Given the description of an element on the screen output the (x, y) to click on. 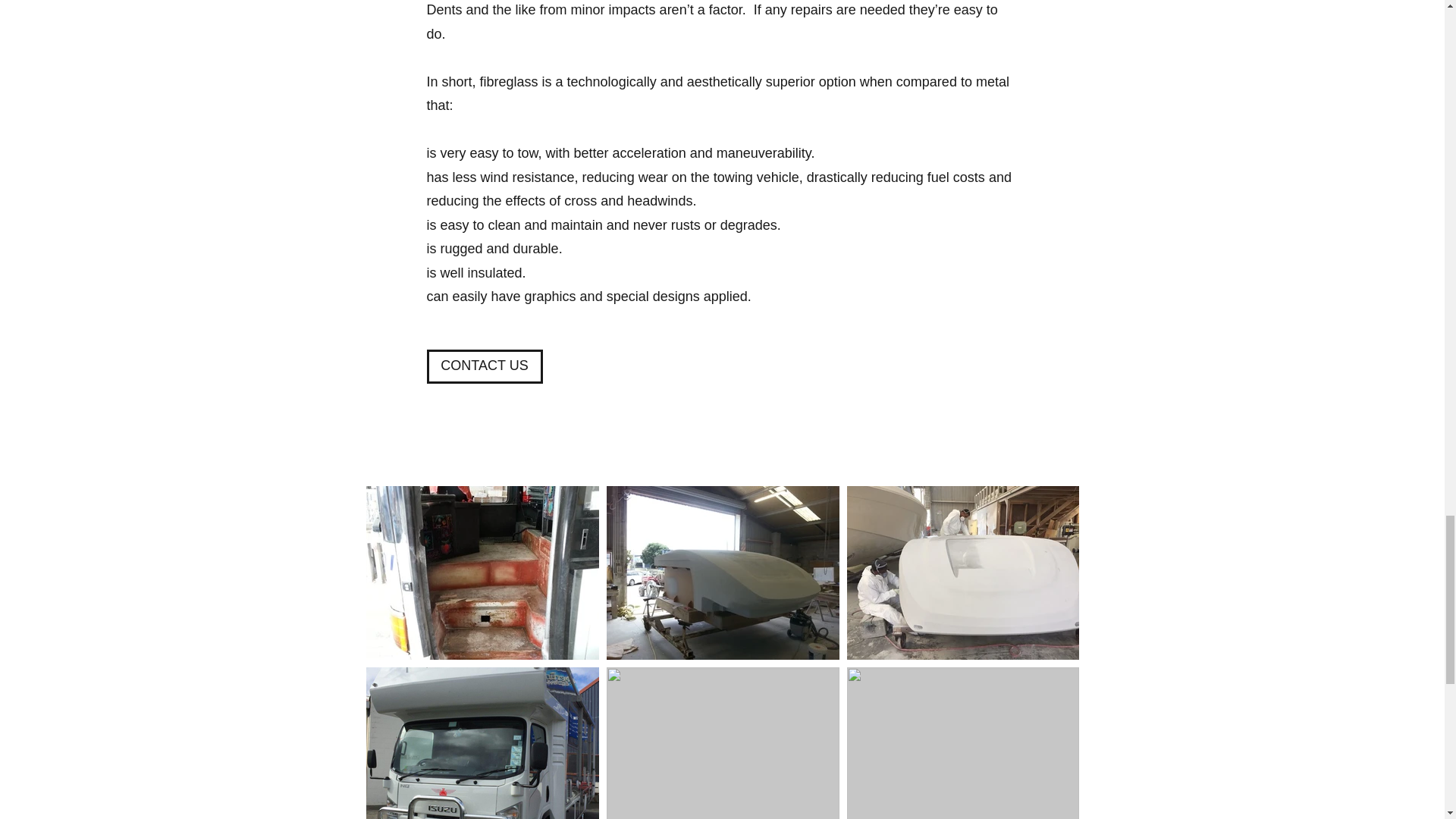
CONTACT US (483, 366)
